Given the description of an element on the screen output the (x, y) to click on. 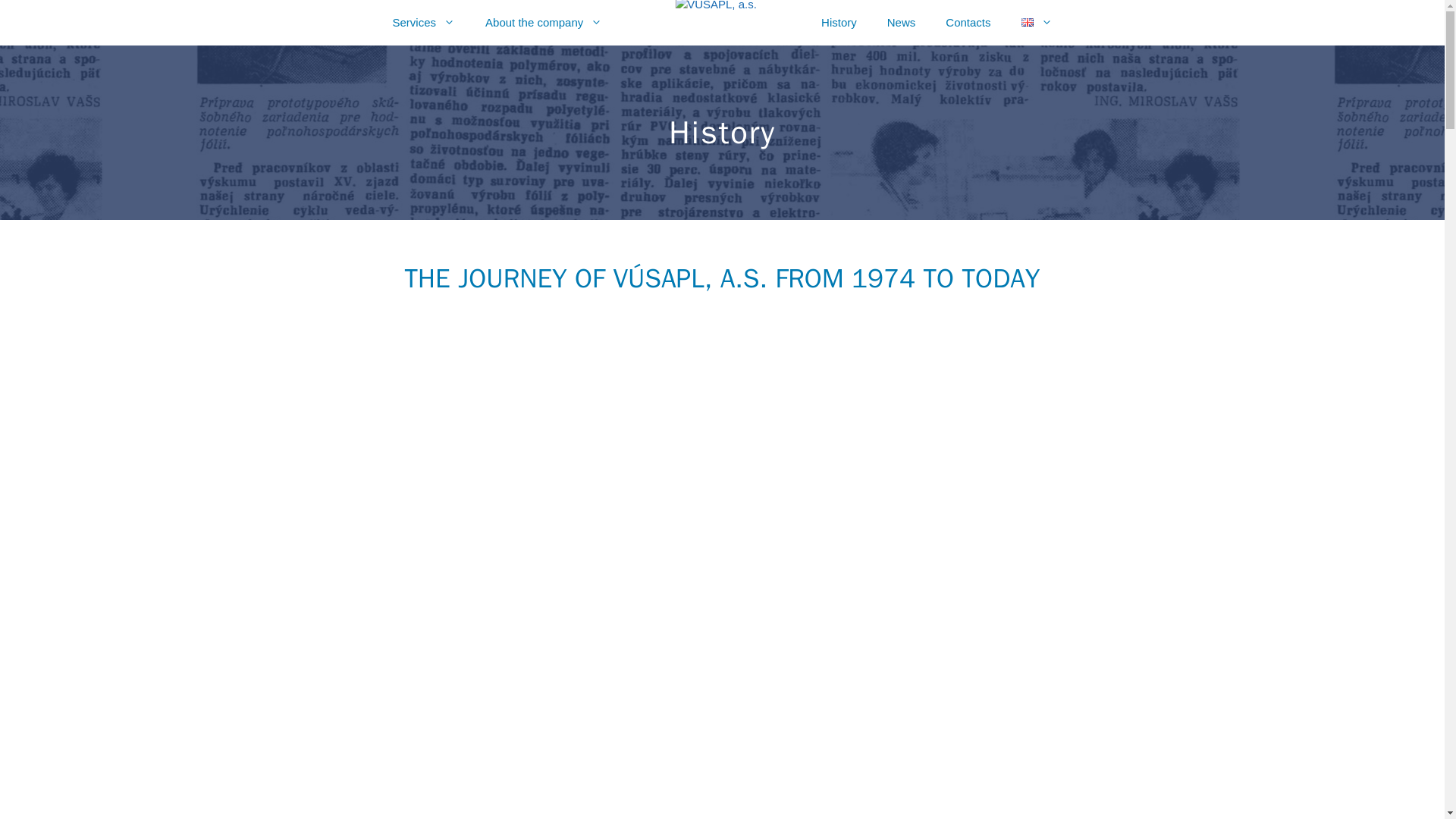
News (901, 22)
About the company (543, 22)
Services (423, 22)
Contacts (968, 22)
History (839, 22)
